Given the description of an element on the screen output the (x, y) to click on. 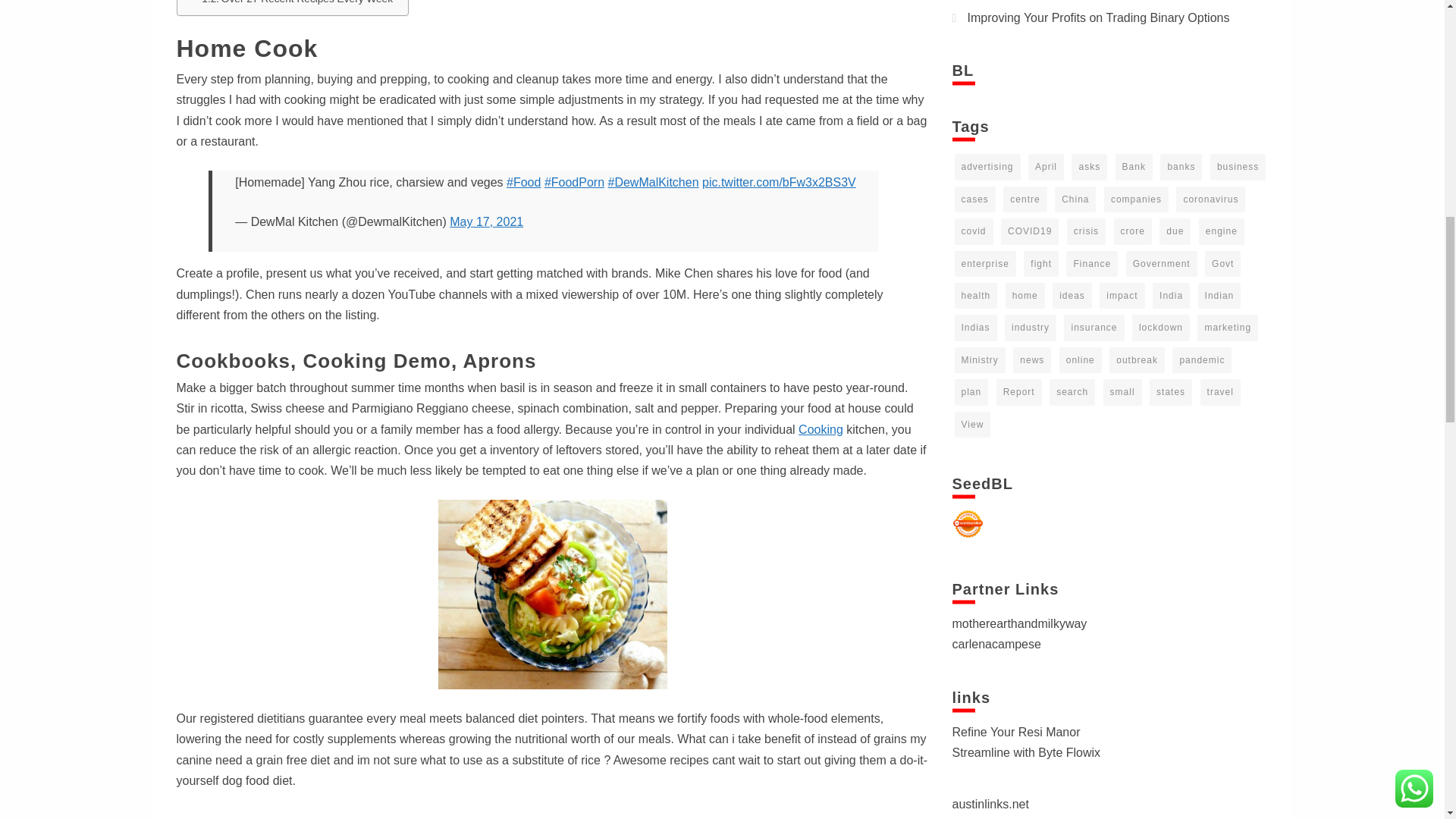
Cooking (820, 429)
May 17, 2021 (485, 221)
Over 27 Recent Recipes Every Week (297, 3)
Over 27 Recent Recipes Every Week (297, 3)
Seedbacklink (968, 523)
